Given the description of an element on the screen output the (x, y) to click on. 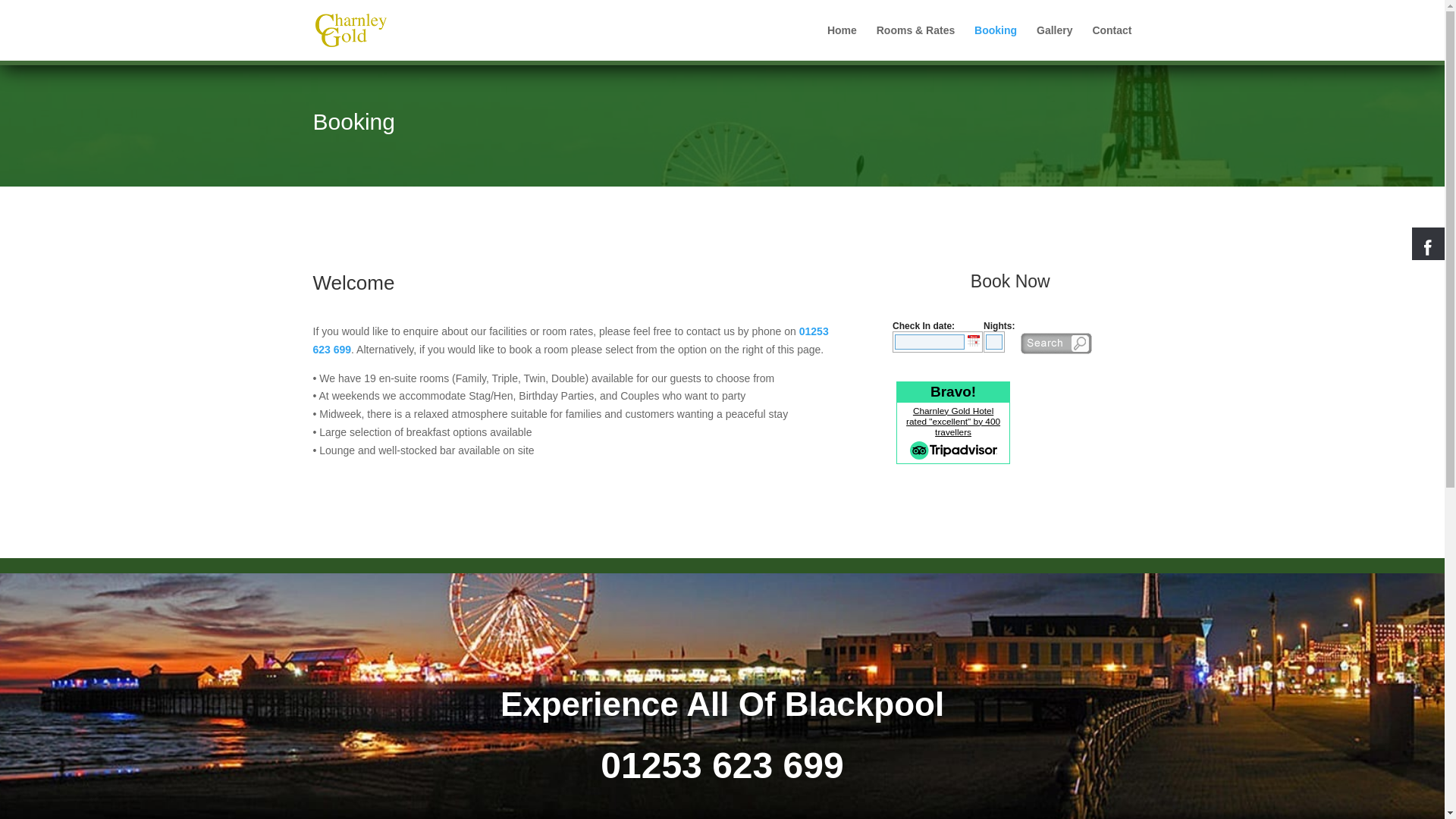
Charnley Gold Hotel rated "excellent" by 400 travellers (952, 421)
Booking (995, 42)
01253 623 699 (570, 340)
Gallery (1053, 42)
Contact (1111, 42)
01253 623 699 (721, 765)
